Given the description of an element on the screen output the (x, y) to click on. 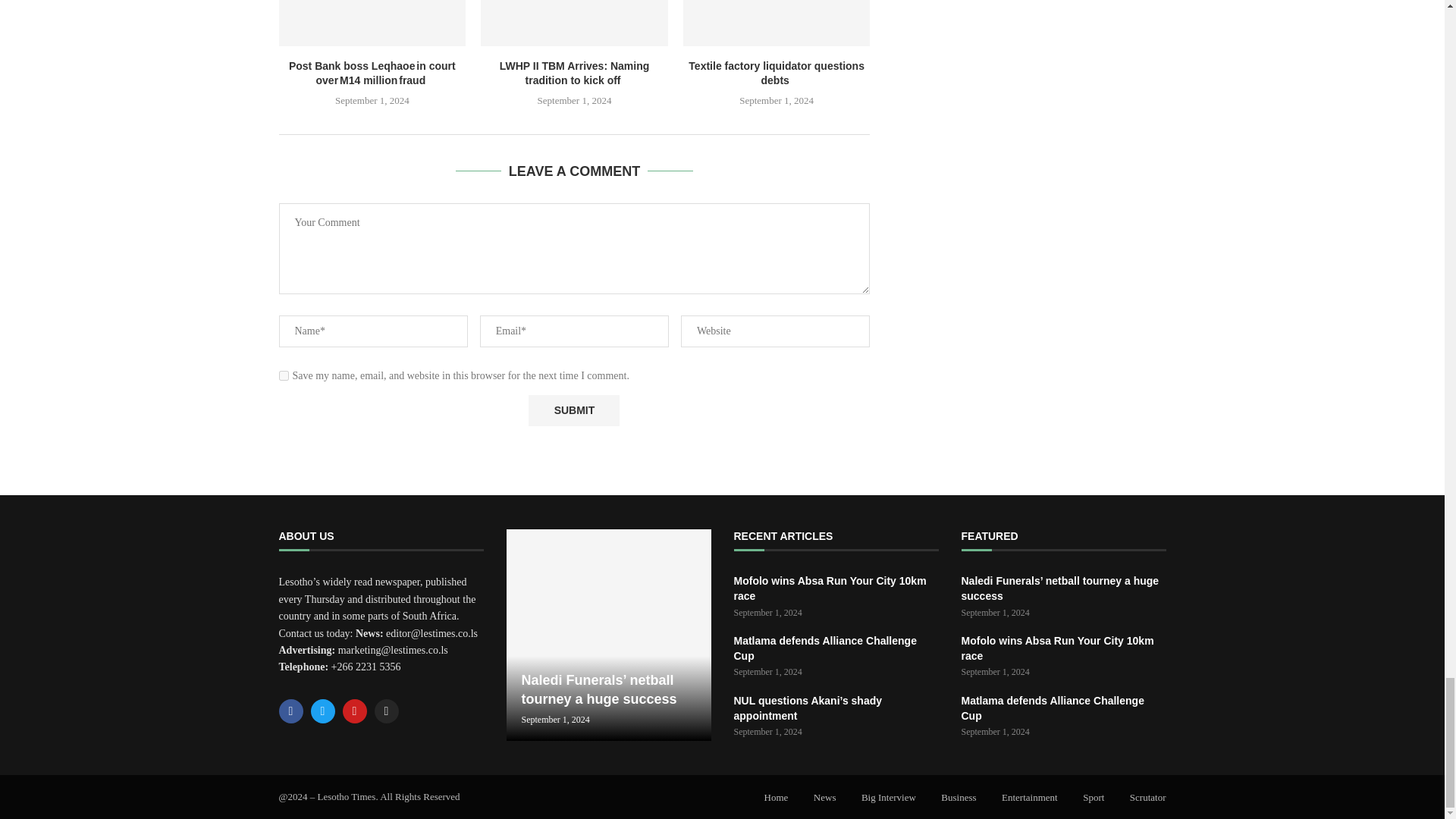
yes (283, 375)
Submit (574, 409)
